Given the description of an element on the screen output the (x, y) to click on. 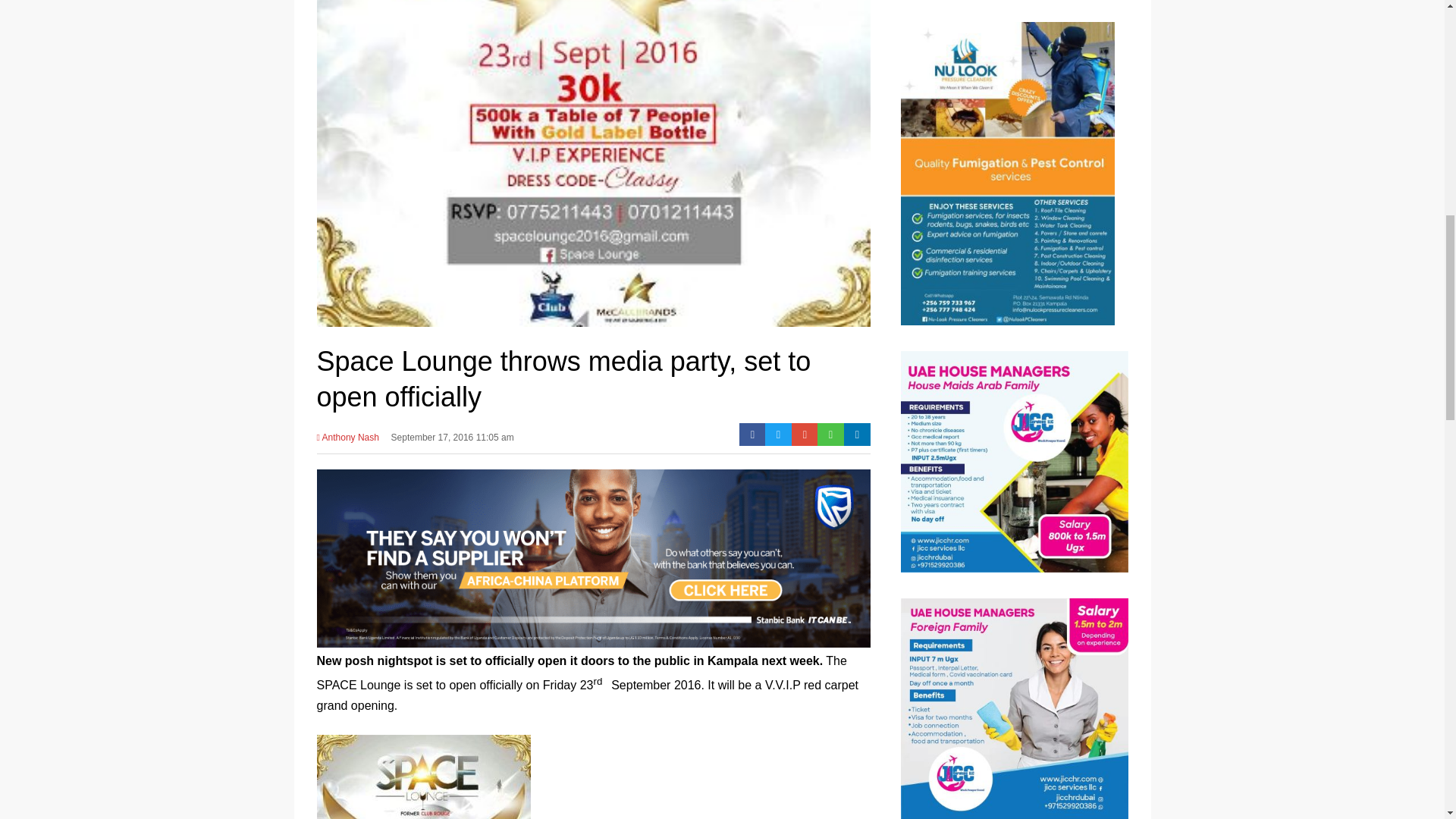
Anthony Nash (347, 441)
Google-plus (805, 434)
Facebook (752, 434)
Whatsapp (830, 434)
September 17, 2016 11:05 am (452, 441)
Twitter (778, 434)
Linkedin (857, 434)
